Given the description of an element on the screen output the (x, y) to click on. 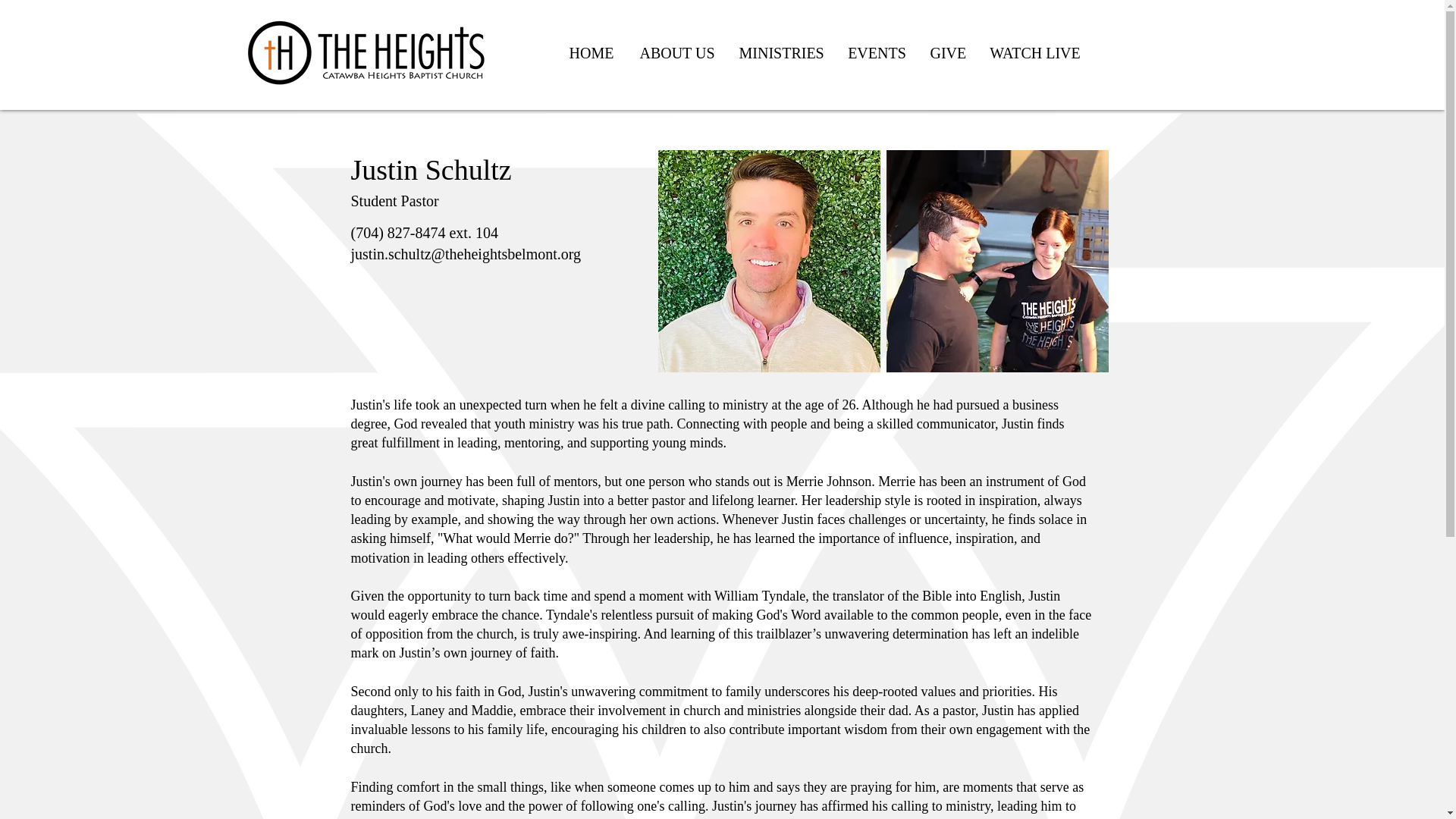
EVENTS (876, 53)
HOME (591, 53)
WATCH LIVE (1034, 53)
GIVE (947, 53)
ABOUT US (676, 53)
MINISTRIES (781, 53)
